Given the description of an element on the screen output the (x, y) to click on. 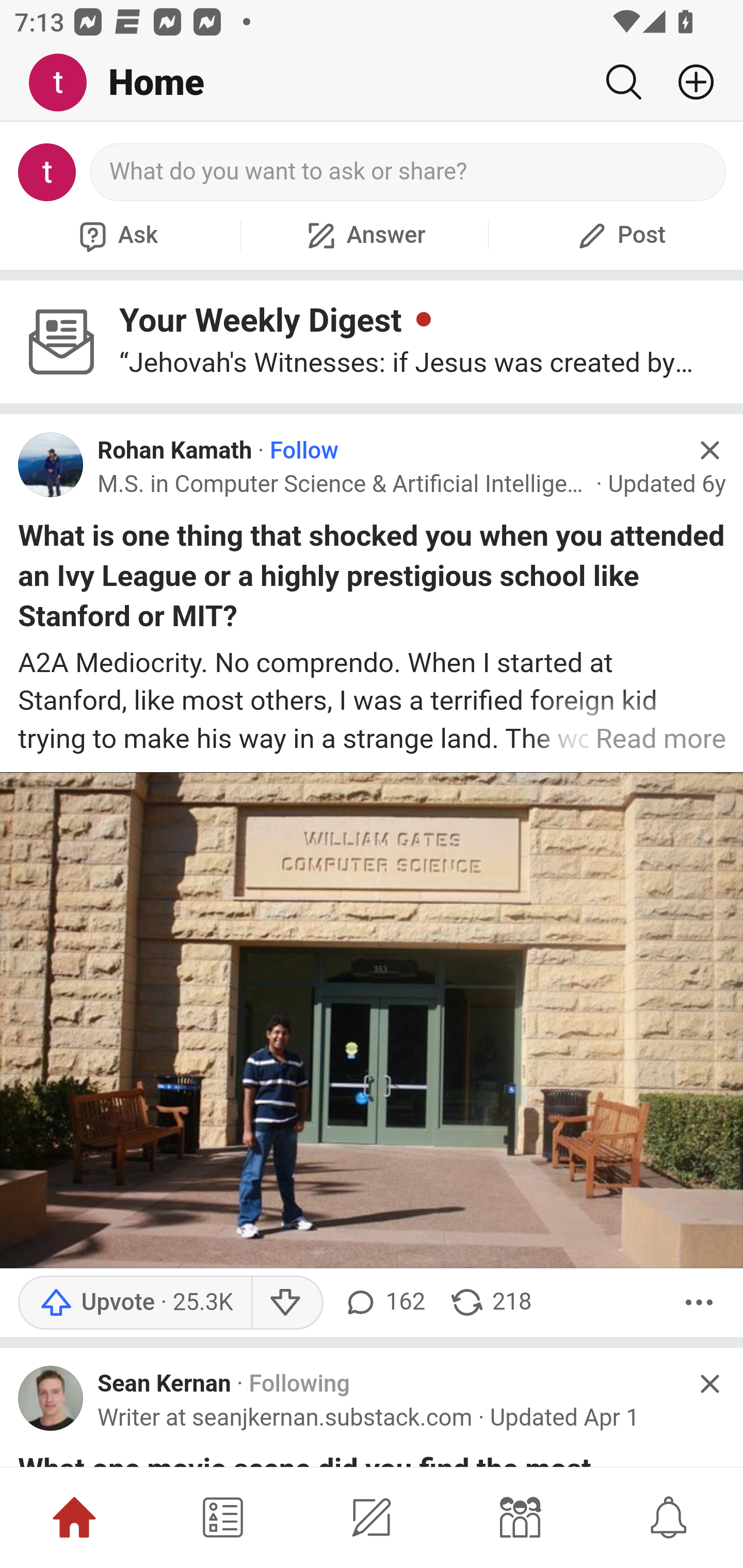
Me Home Search Add (371, 82)
Me (64, 83)
Search (623, 82)
Add (688, 82)
